Given the description of an element on the screen output the (x, y) to click on. 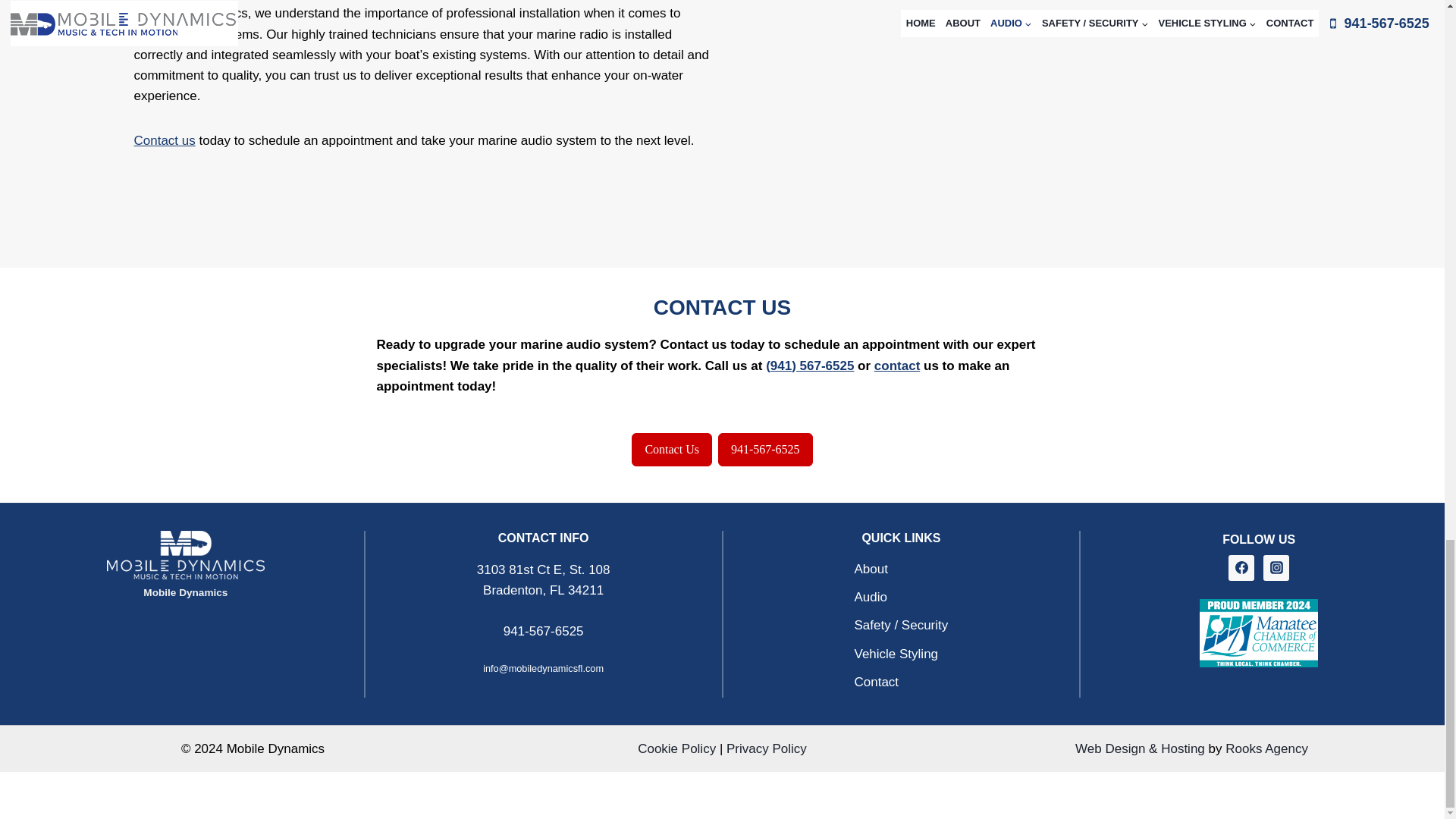
Contact Us (671, 449)
Rooks Agency Web Design (1266, 748)
About (900, 569)
941-567-6525 (764, 449)
Contact us (164, 140)
contact (897, 365)
941-567-6525 (543, 631)
Tampa-Sarasota Web Design (1140, 748)
